Given the description of an element on the screen output the (x, y) to click on. 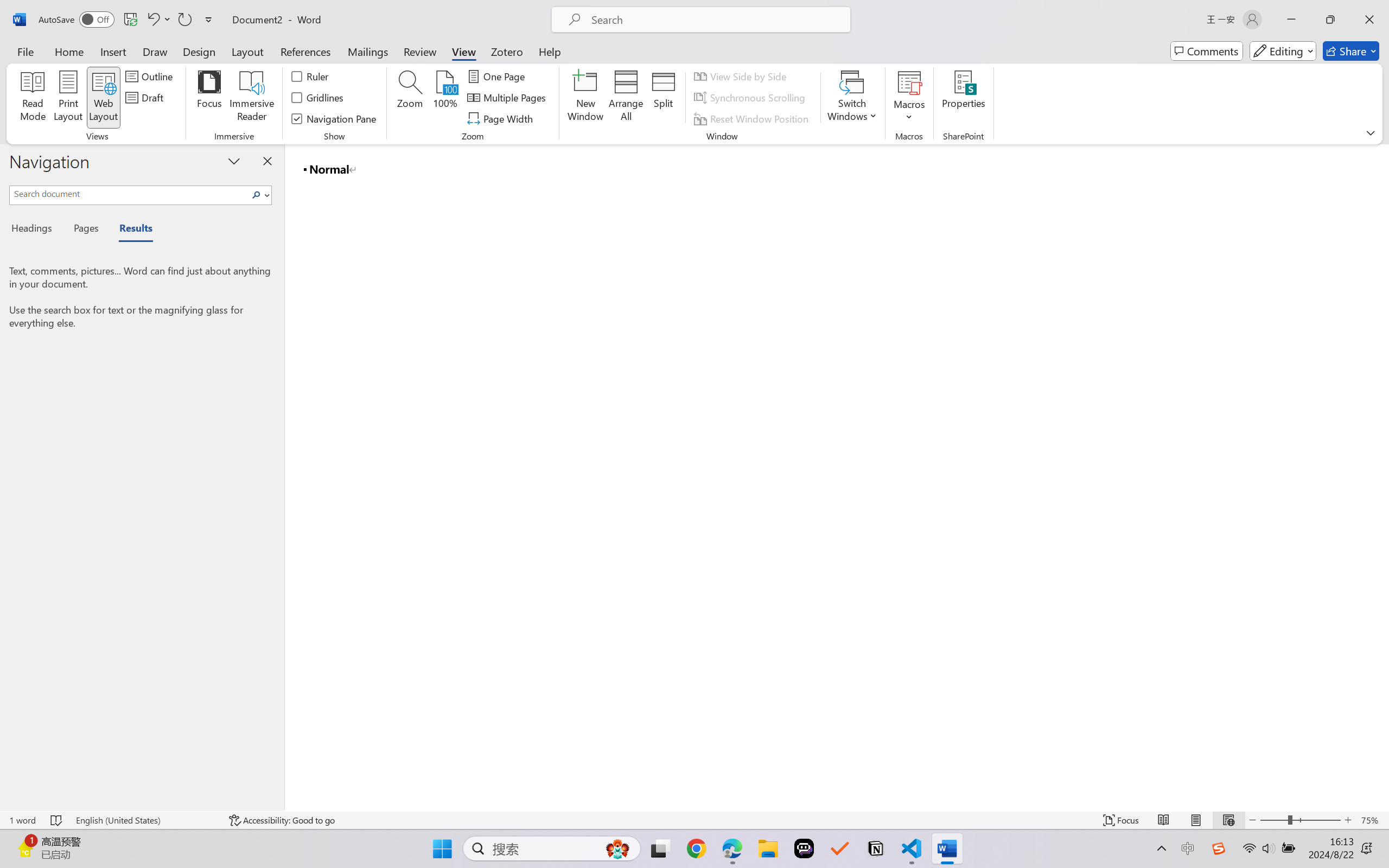
Customize Quick Access Toolbar (208, 19)
Zoom... (409, 97)
Ribbon Display Options (1370, 132)
Accessibility Checker Accessibility: Good to go (282, 819)
Outline (150, 75)
Reset Window Position (752, 118)
AutomationID: BadgeAnchorLargeTicker (24, 847)
New Window (585, 97)
